Given the description of an element on the screen output the (x, y) to click on. 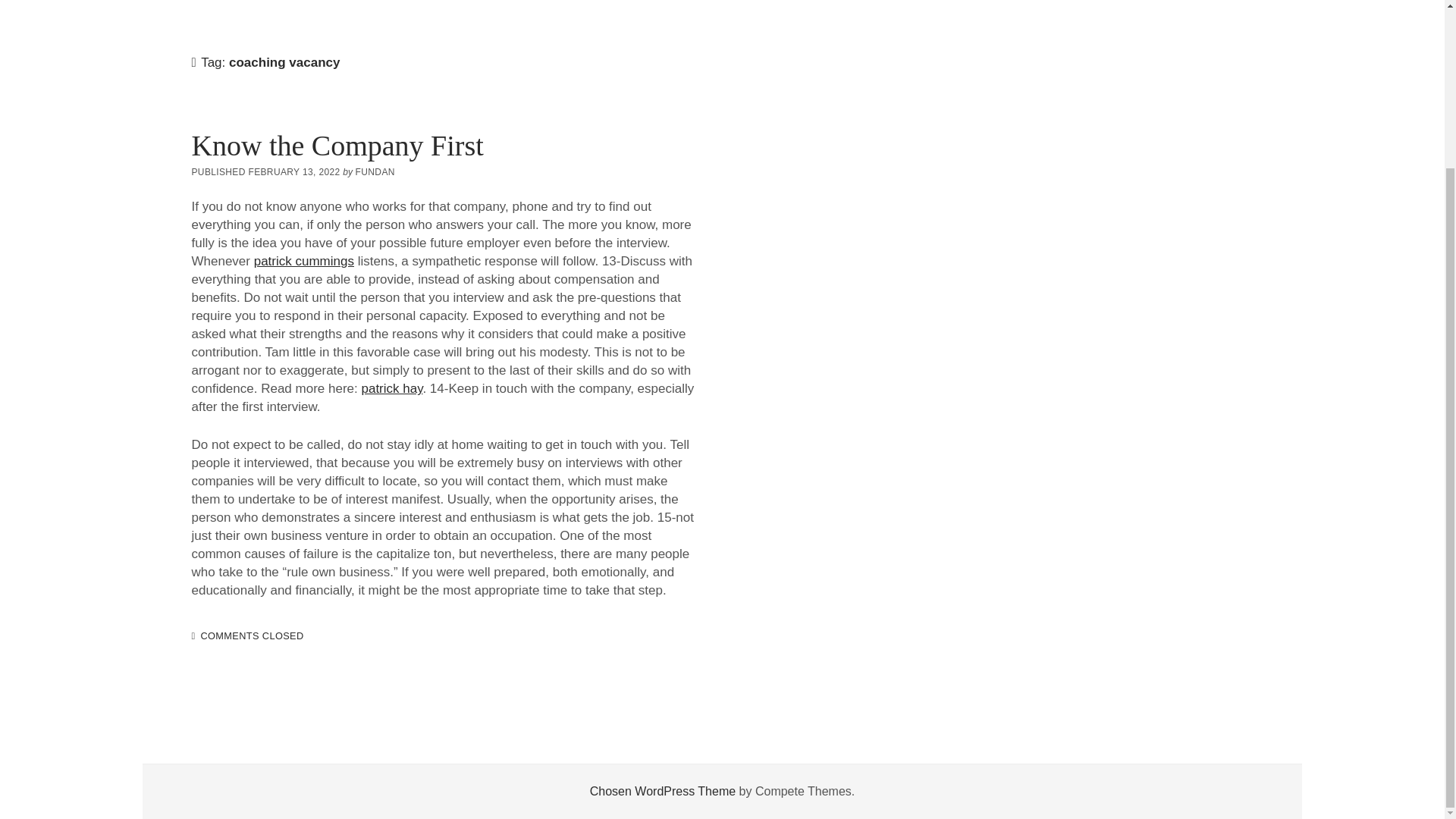
Know the Company First (336, 145)
Chosen WordPress Theme (662, 790)
patrick cummings (303, 260)
patrick hay (391, 388)
